Given the description of an element on the screen output the (x, y) to click on. 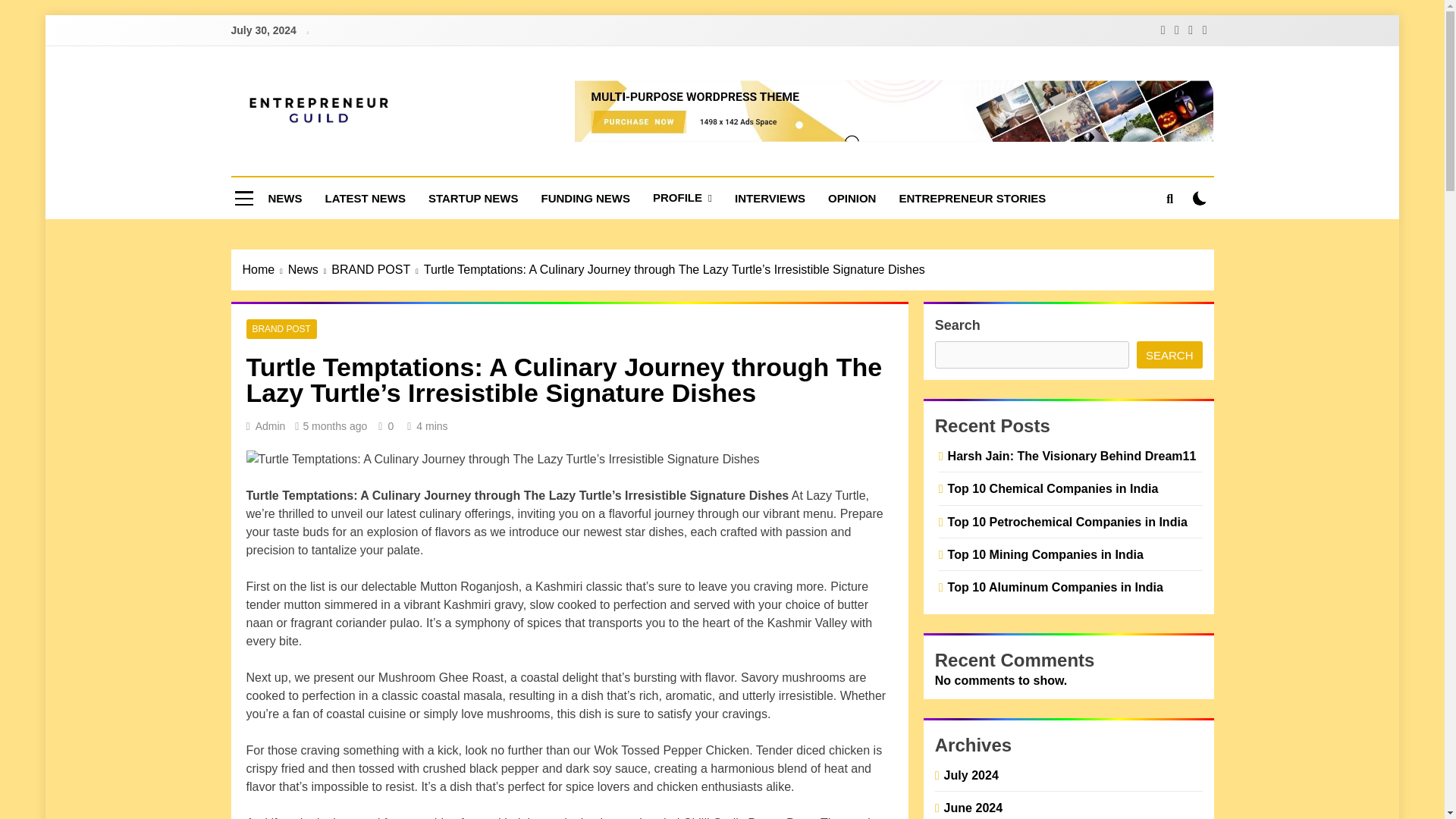
PROFILE (682, 198)
LATEST NEWS (365, 198)
ENTREPRENEUR STORIES (971, 198)
FUNDING NEWS (585, 198)
on (1199, 197)
Entrepreneur Guild (412, 162)
NEWS (284, 198)
OPINION (851, 198)
Home (265, 270)
INTERVIEWS (769, 198)
STARTUP NEWS (472, 198)
